Given the description of an element on the screen output the (x, y) to click on. 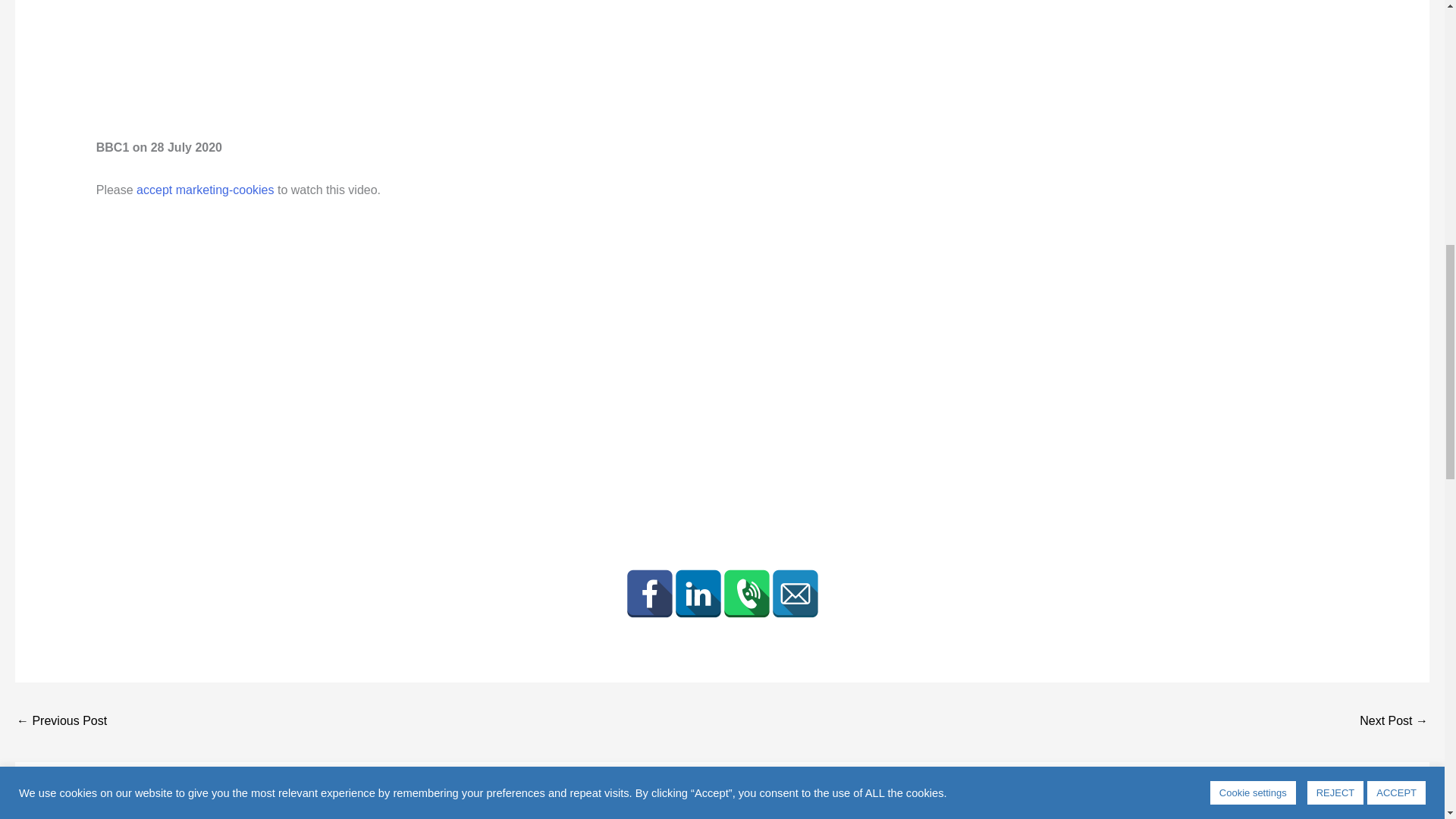
Email (794, 592)
Autumn Travel Update (1393, 722)
Facebook (648, 592)
BBC News Appearance July 2020 (61, 722)
Telephone (746, 592)
LinkedIn (697, 592)
accept marketing-cookies (204, 189)
